Given the description of an element on the screen output the (x, y) to click on. 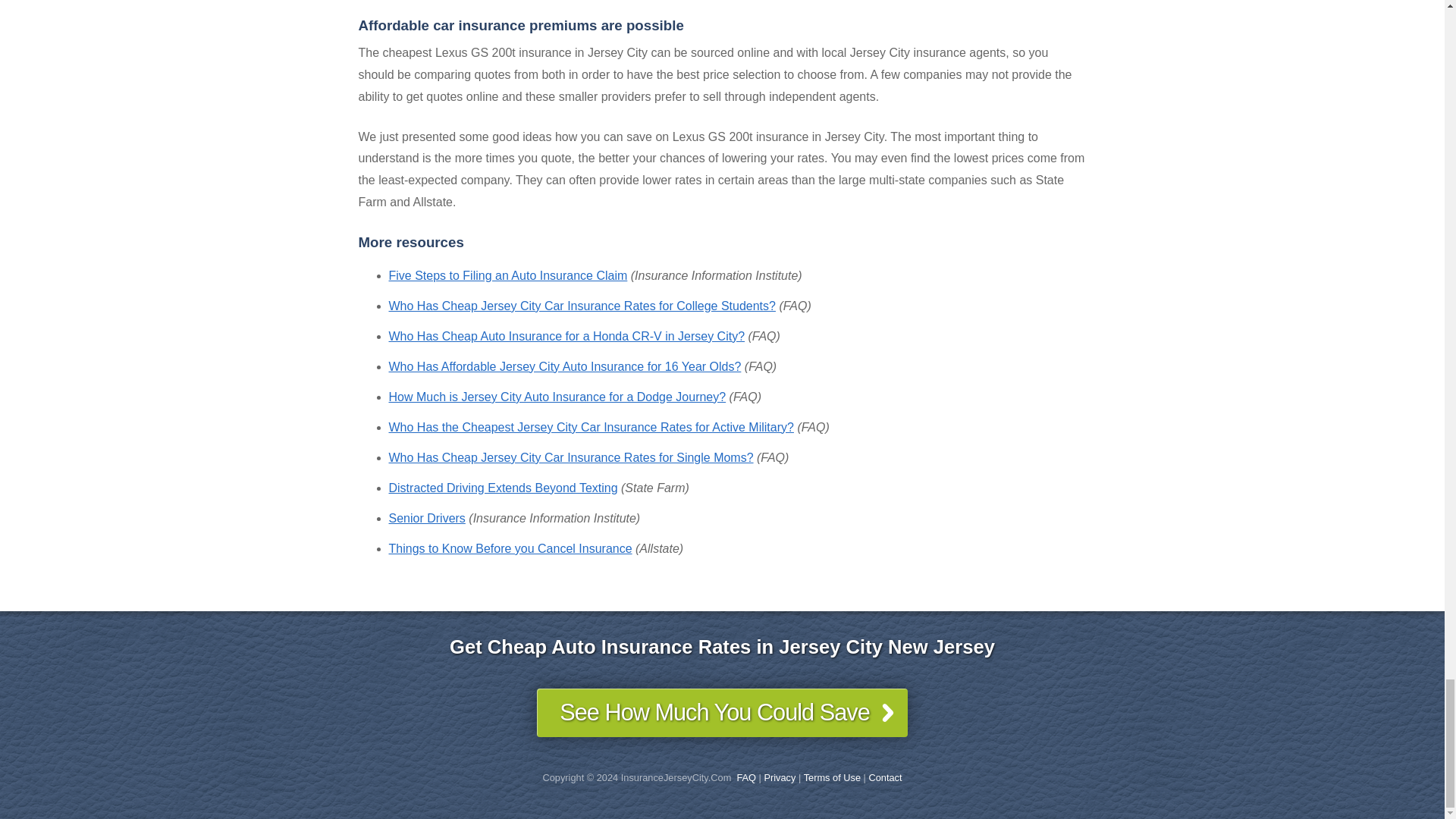
Things to Know Before you Cancel Insurance (509, 548)
See How Much You Could Save (722, 712)
How Much is Jersey City Auto Insurance for a Dodge Journey? (556, 396)
Senior Drivers (426, 517)
Distracted Driving Extends Beyond Texting (502, 487)
FAQ (745, 777)
Five Steps to Filing an Auto Insurance Claim (507, 275)
